Given the description of an element on the screen output the (x, y) to click on. 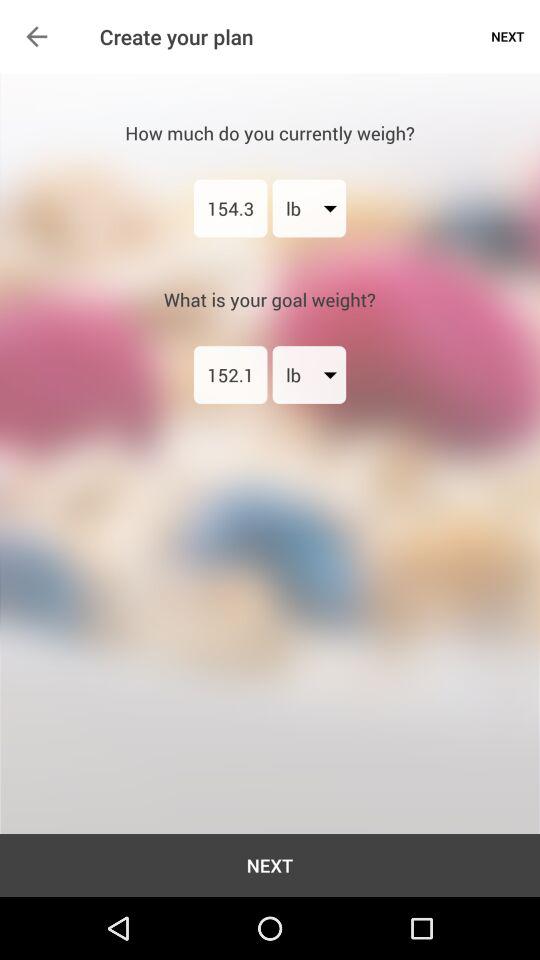
select the item below how much do icon (230, 208)
